Given the description of an element on the screen output the (x, y) to click on. 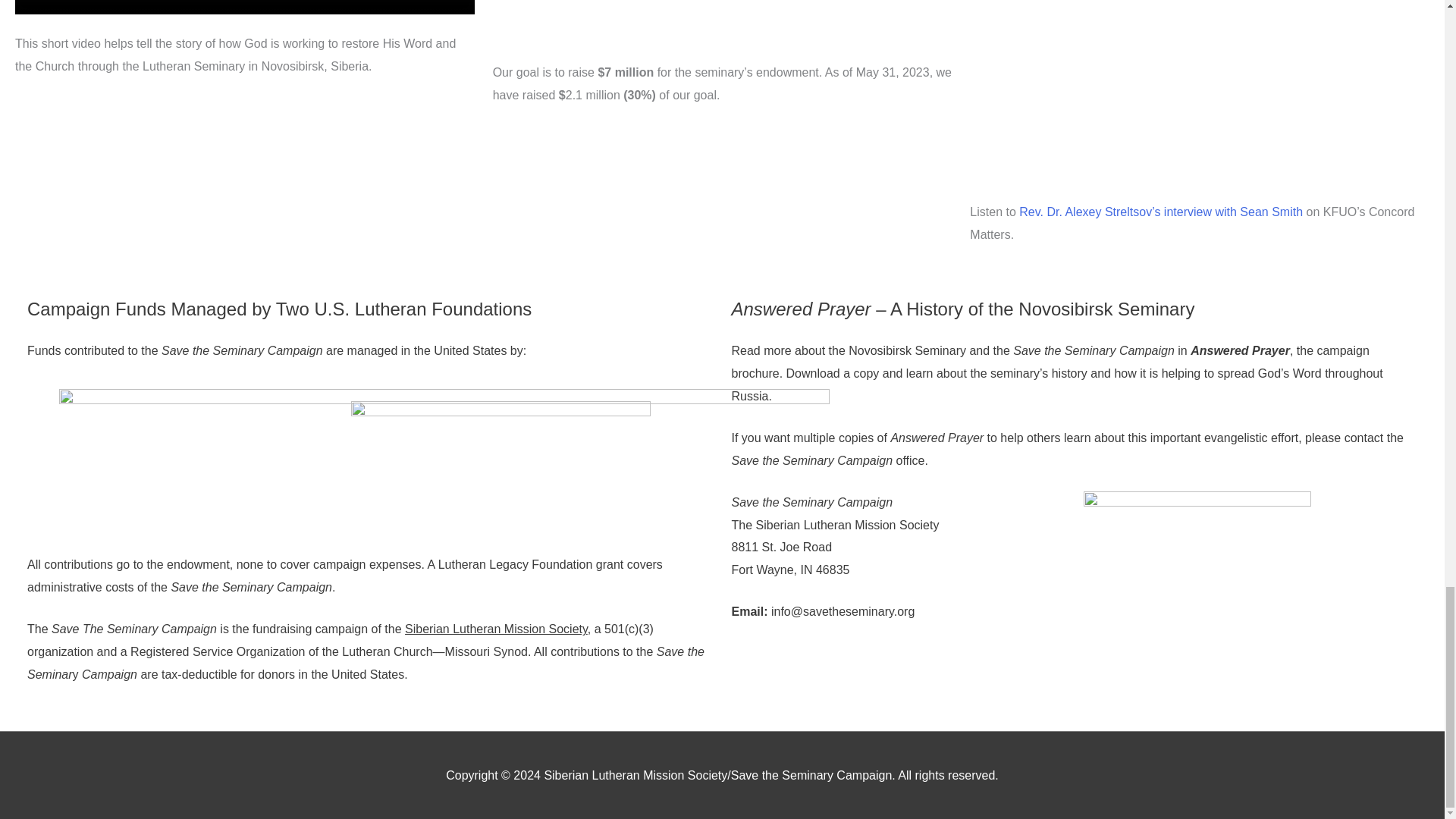
Answered Prayer (1240, 350)
Siberian Lutheran Mission Society (496, 628)
